Given the description of an element on the screen output the (x, y) to click on. 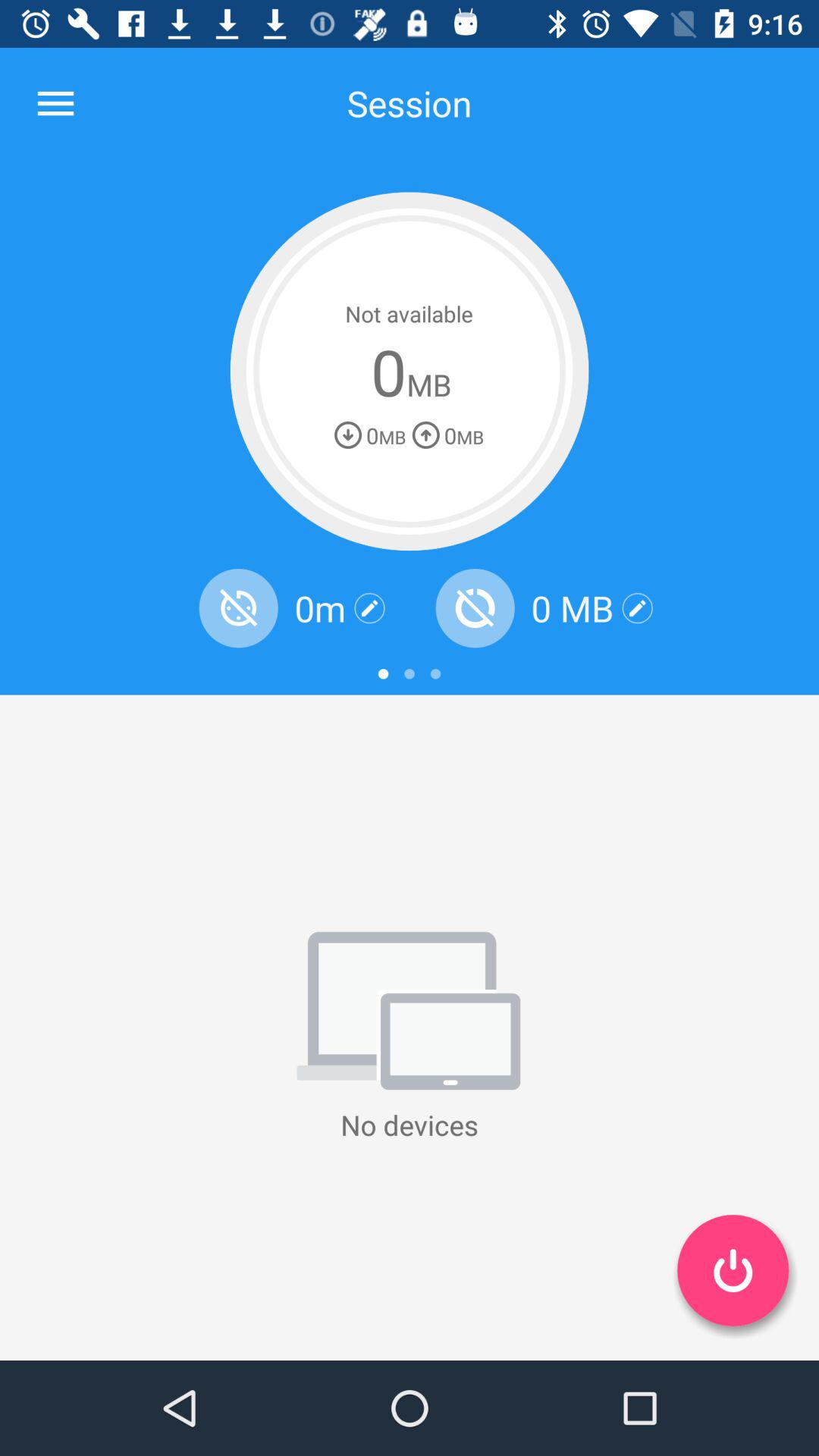
edit time (369, 608)
